Given the description of an element on the screen output the (x, y) to click on. 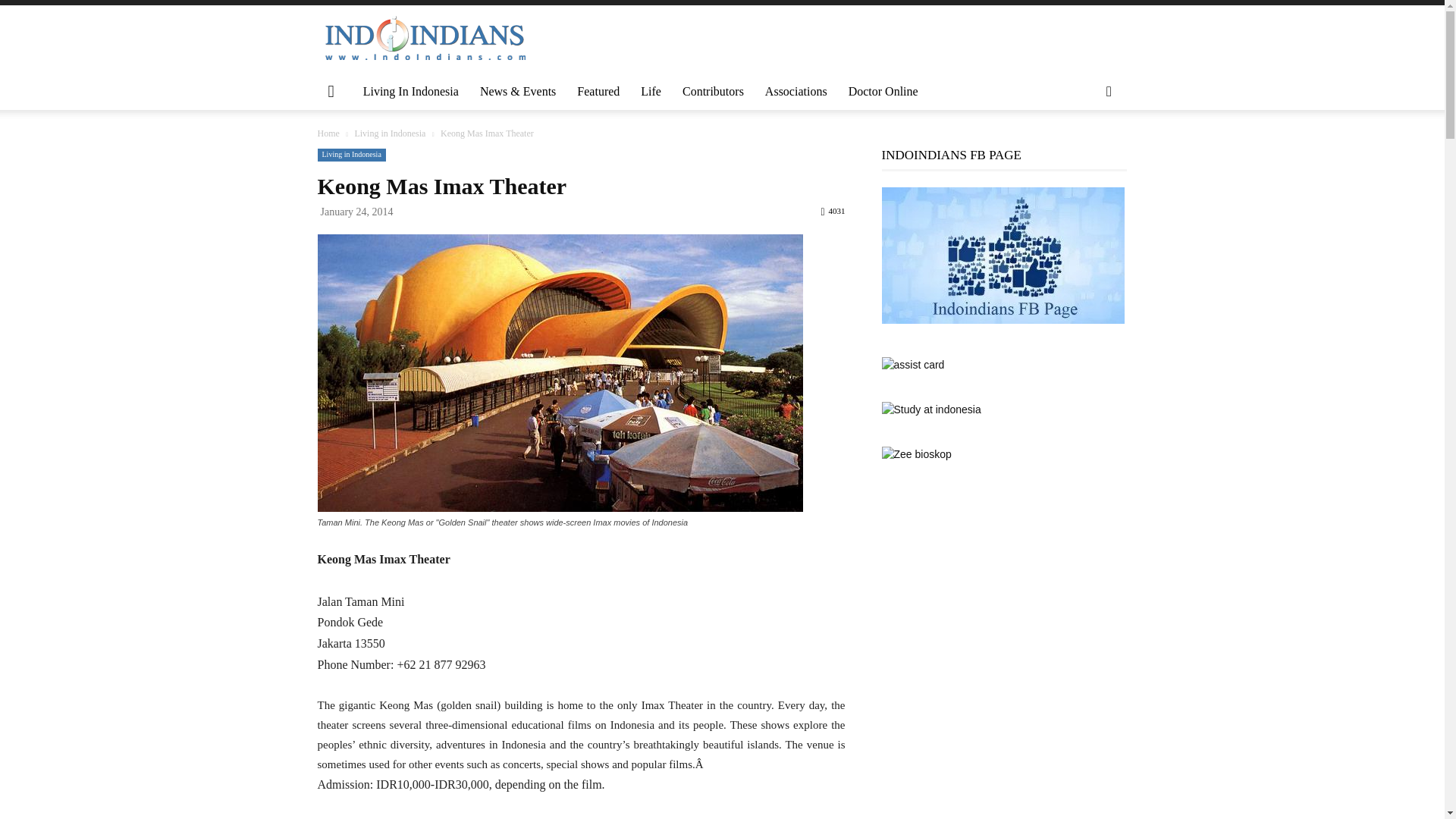
LOGO INDOINDIANS (424, 39)
View all posts in Living in Indonesia (389, 132)
